Given the description of an element on the screen output the (x, y) to click on. 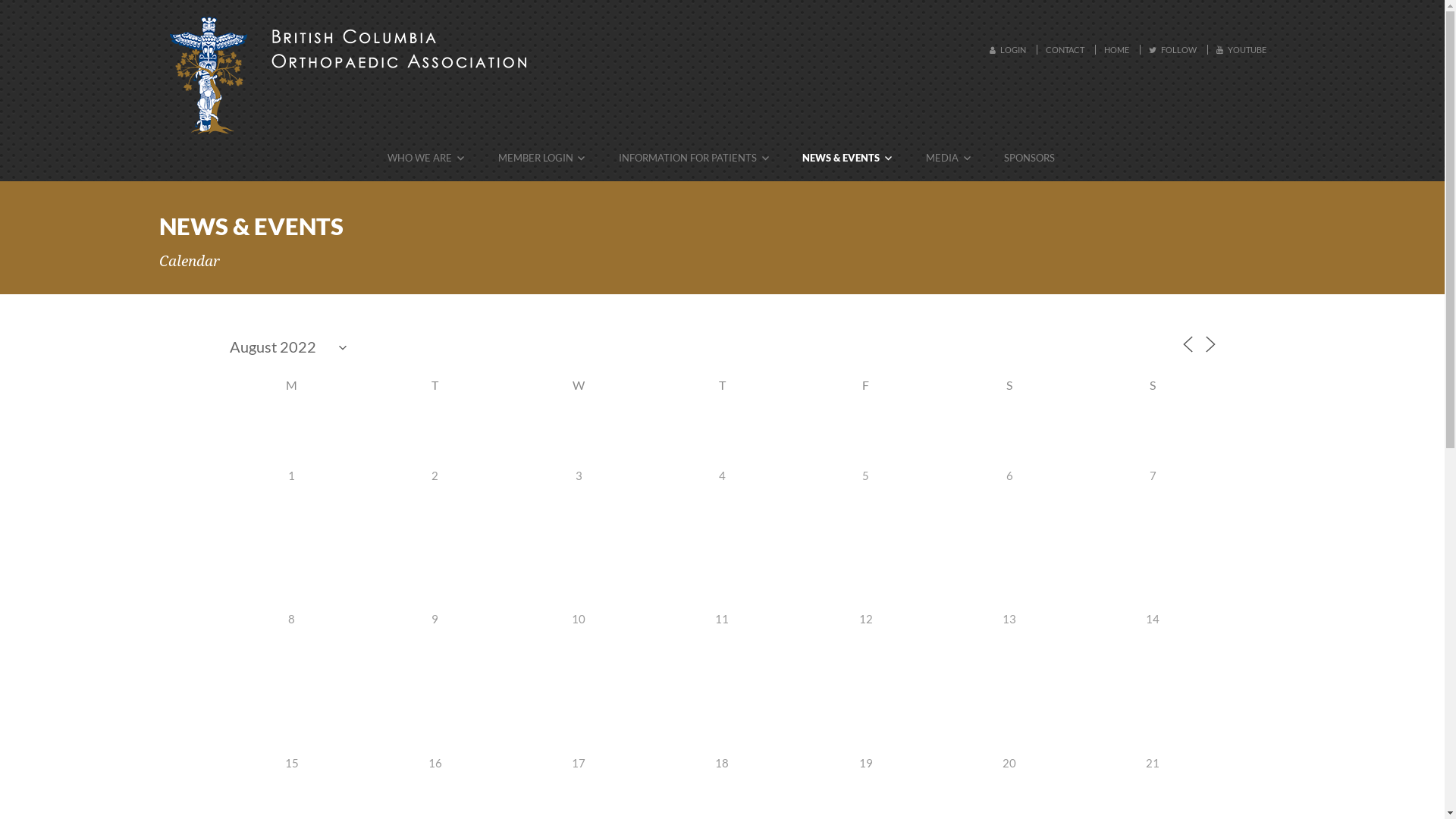
MEMBER LOGIN Element type: text (536, 157)
YOUTUBE Element type: text (1240, 49)
BCOA Element type: text (202, 147)
SPONSORS Element type: text (1030, 157)
HOME Element type: text (1116, 49)
INFORMATION FOR PATIENTS Element type: text (688, 157)
CONTACT Element type: text (1064, 49)
MEDIA Element type: text (942, 157)
WHO WE ARE Element type: text (420, 157)
FOLLOW Element type: text (1171, 49)
NEWS & EVENTS Element type: text (842, 157)
LOGIN Element type: text (1007, 49)
